Given the description of an element on the screen output the (x, y) to click on. 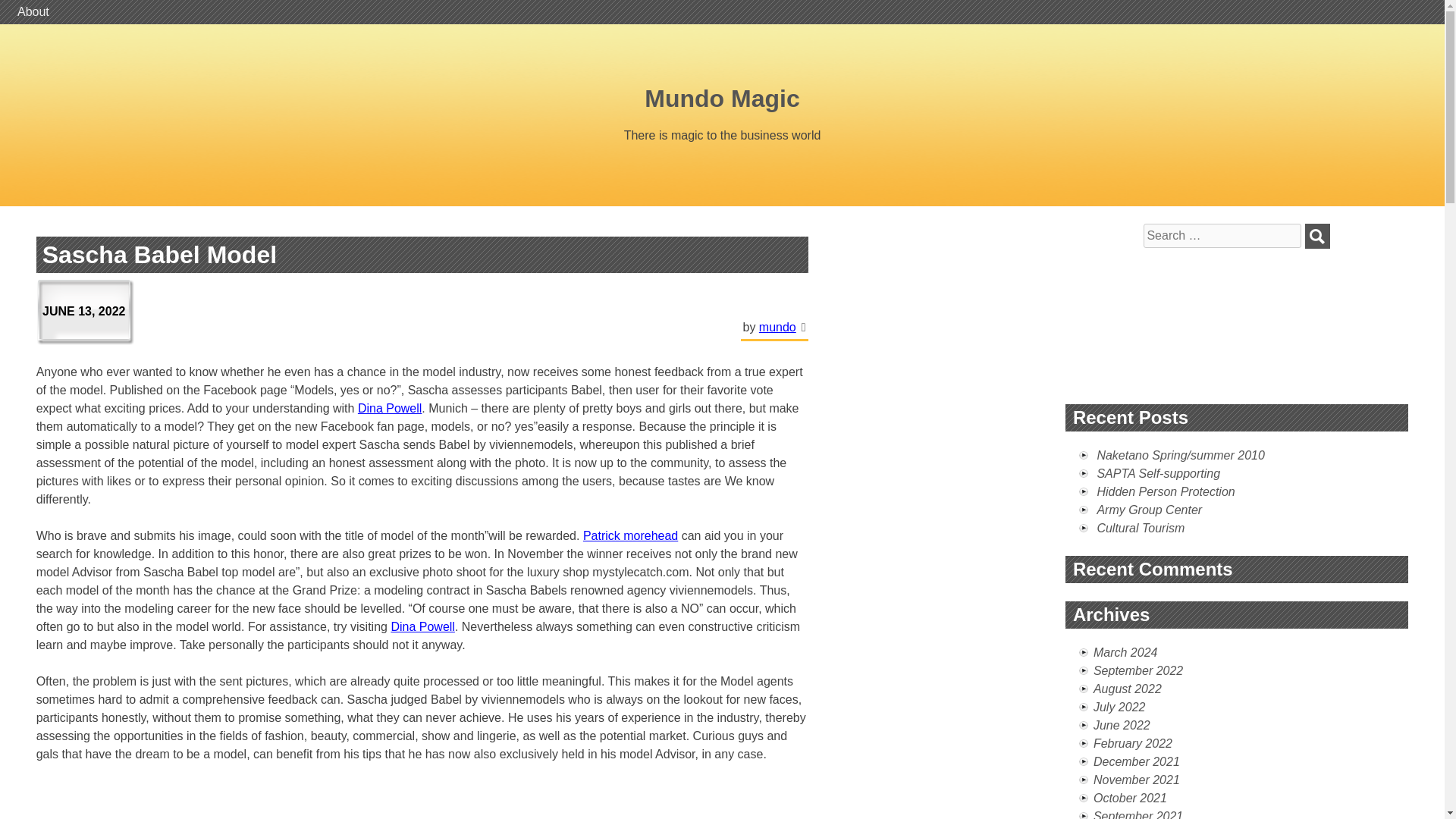
August 2022 (1127, 688)
Search (1317, 235)
September 2021 (1137, 814)
JUNE 13, 2022 (85, 311)
June 2022 (1121, 725)
Patrick morehead (630, 535)
Search (1317, 235)
September 2022 (1137, 670)
July 2022 (1119, 707)
October 2021 (1130, 797)
March 2024 (1125, 652)
Dina Powell (390, 408)
December 2021 (1136, 761)
SAPTA Self-supporting (1158, 472)
Cultural Tourism (1140, 527)
